Given the description of an element on the screen output the (x, y) to click on. 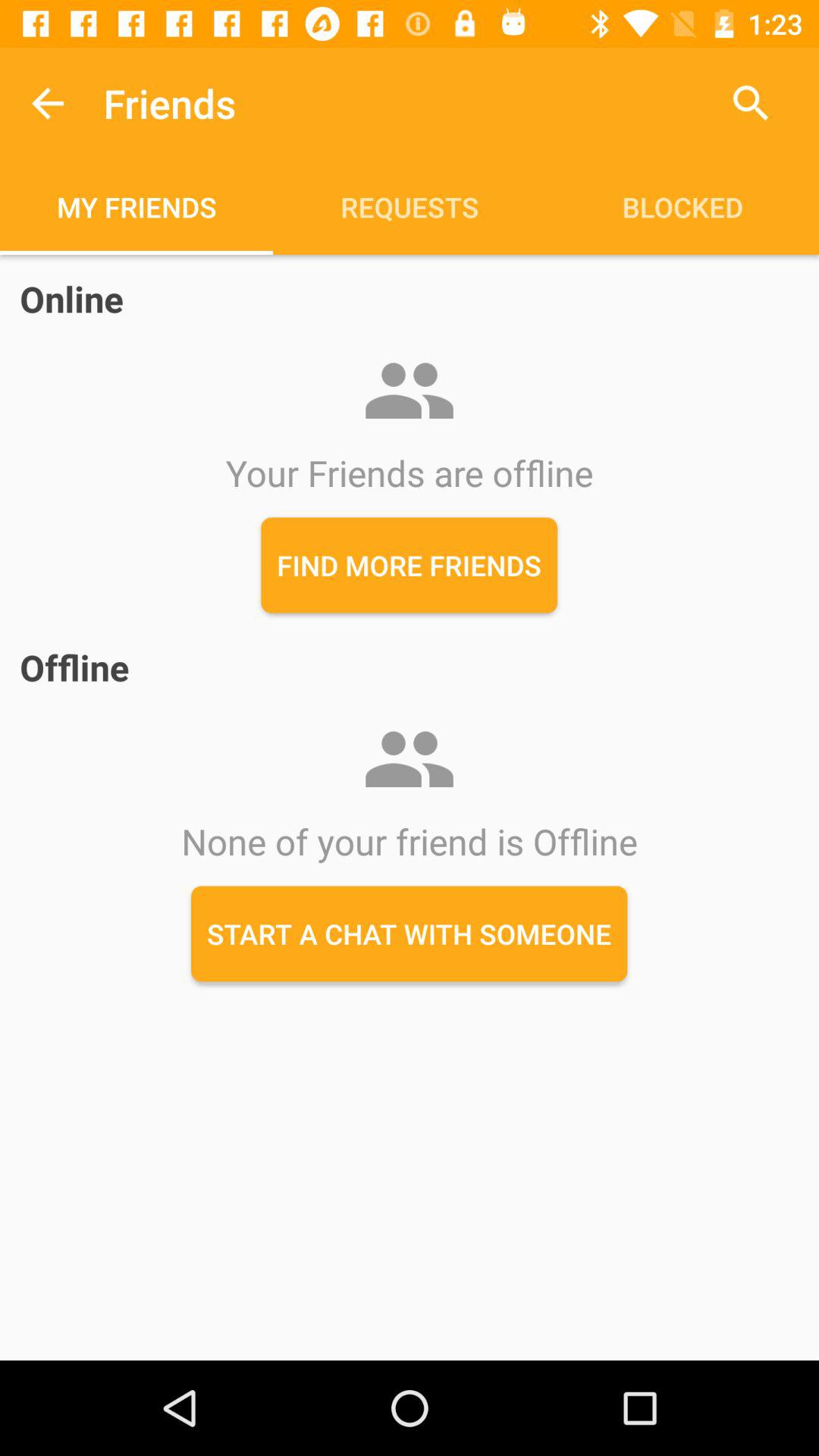
choose item above offline (409, 565)
